Given the description of an element on the screen output the (x, y) to click on. 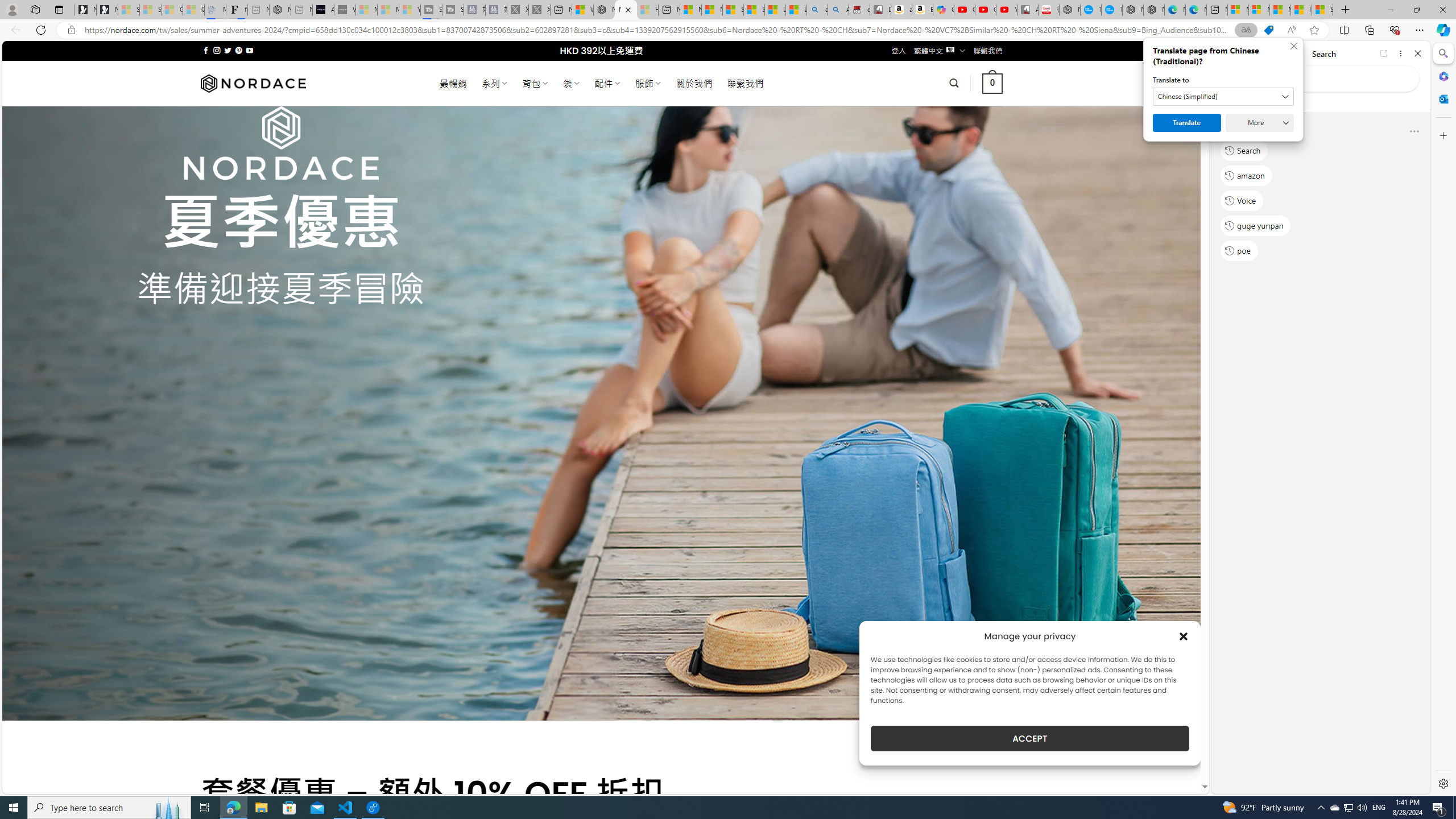
Amazon Echo Dot PNG - Search Images (837, 9)
Translate to (1223, 96)
